Given the description of an element on the screen output the (x, y) to click on. 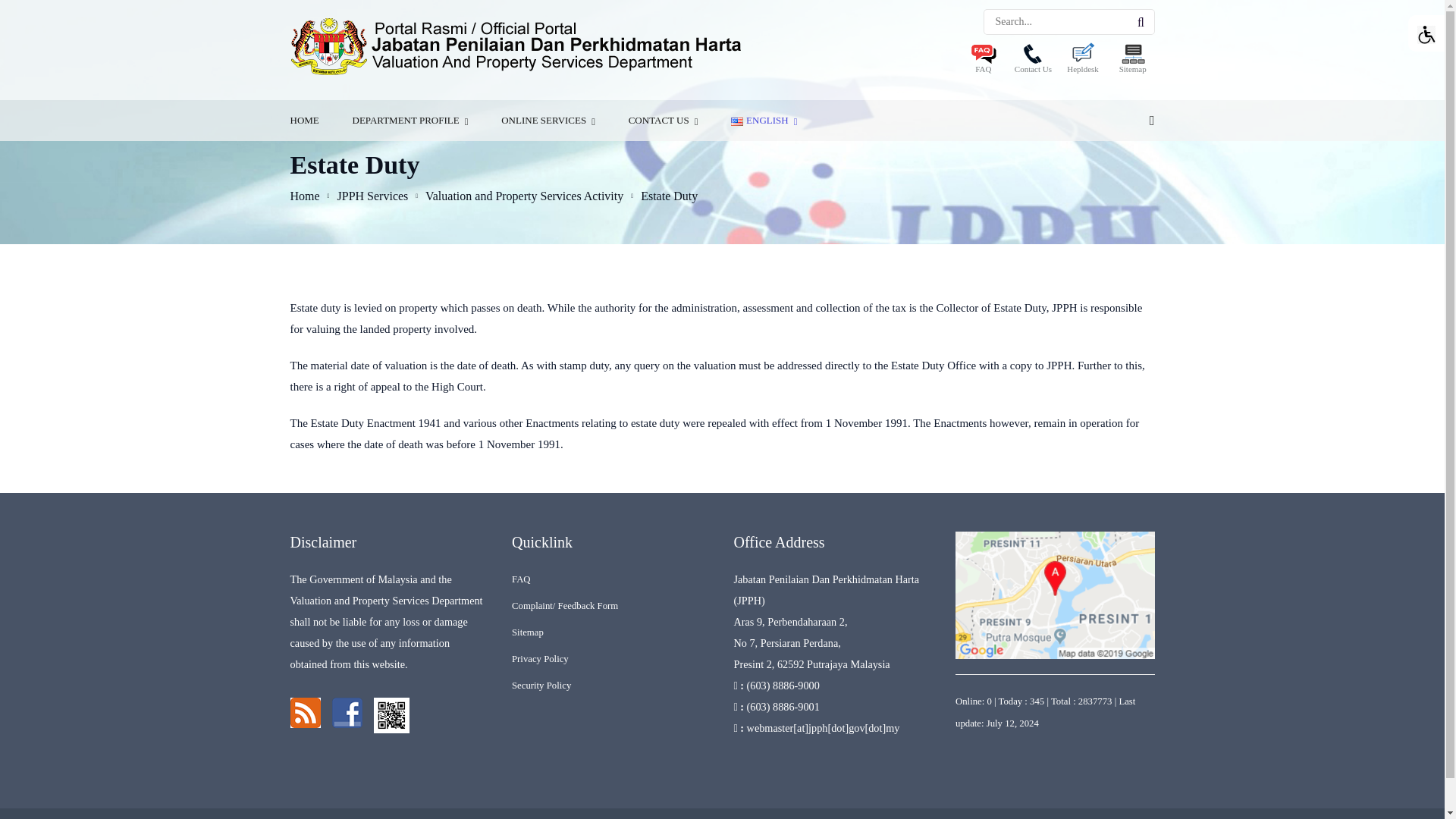
English (736, 121)
ONLINE SERVICES (547, 119)
Contact Us (1032, 60)
FAQ (983, 60)
DEPARTMENT PROFILE (410, 119)
Hepldesk (1083, 60)
Sitemap (1133, 60)
